Given the description of an element on the screen output the (x, y) to click on. 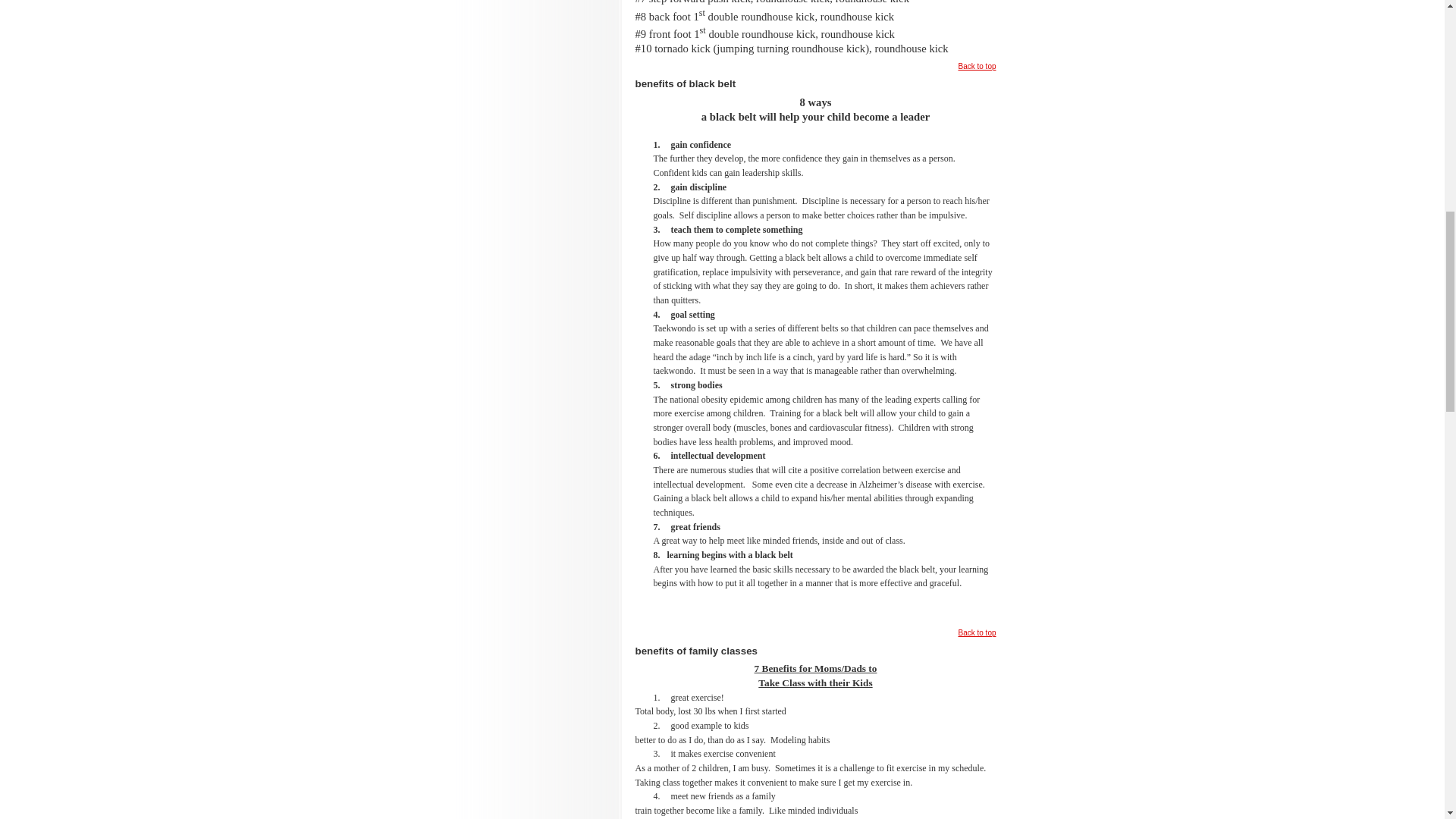
Back to top (976, 632)
Back to top (976, 66)
